Given the description of an element on the screen output the (x, y) to click on. 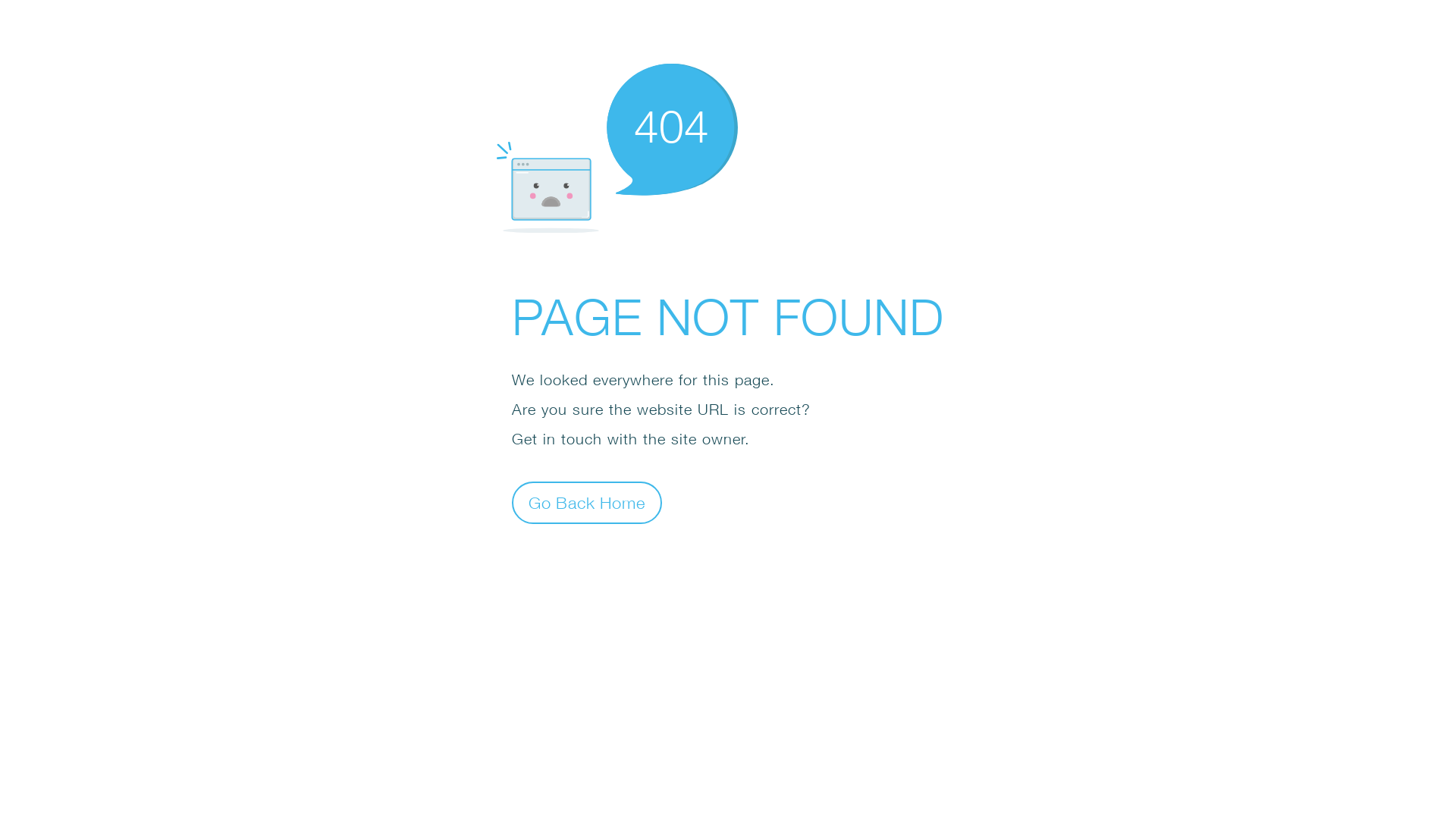
Go Back Home Element type: text (586, 502)
